Given the description of an element on the screen output the (x, y) to click on. 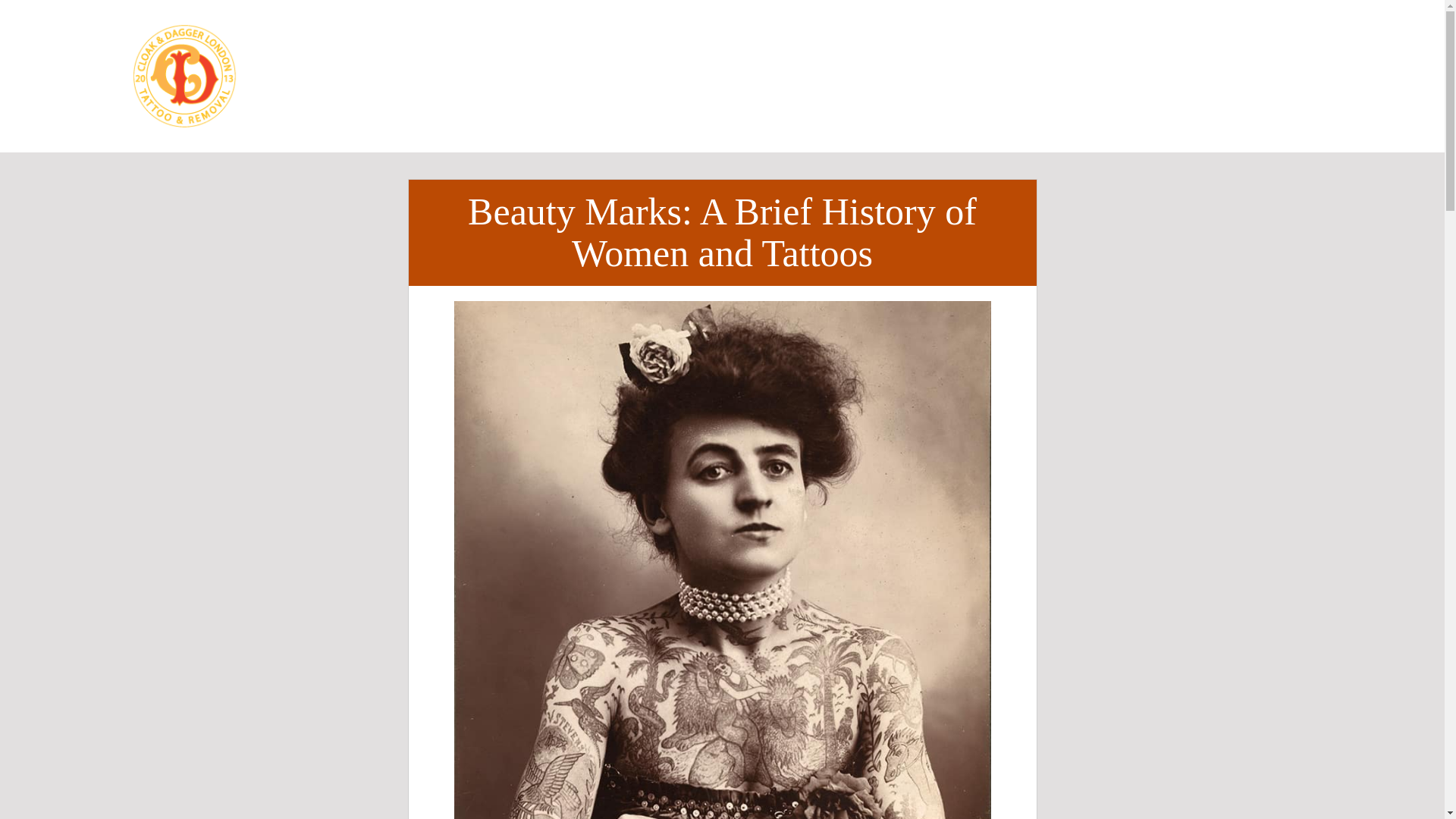
REMOVAL (833, 52)
ARTISTS (675, 52)
ONLINE STORE (685, 99)
STYLES (528, 52)
BOOK YOUR TATTOO (1176, 75)
